Given the description of an element on the screen output the (x, y) to click on. 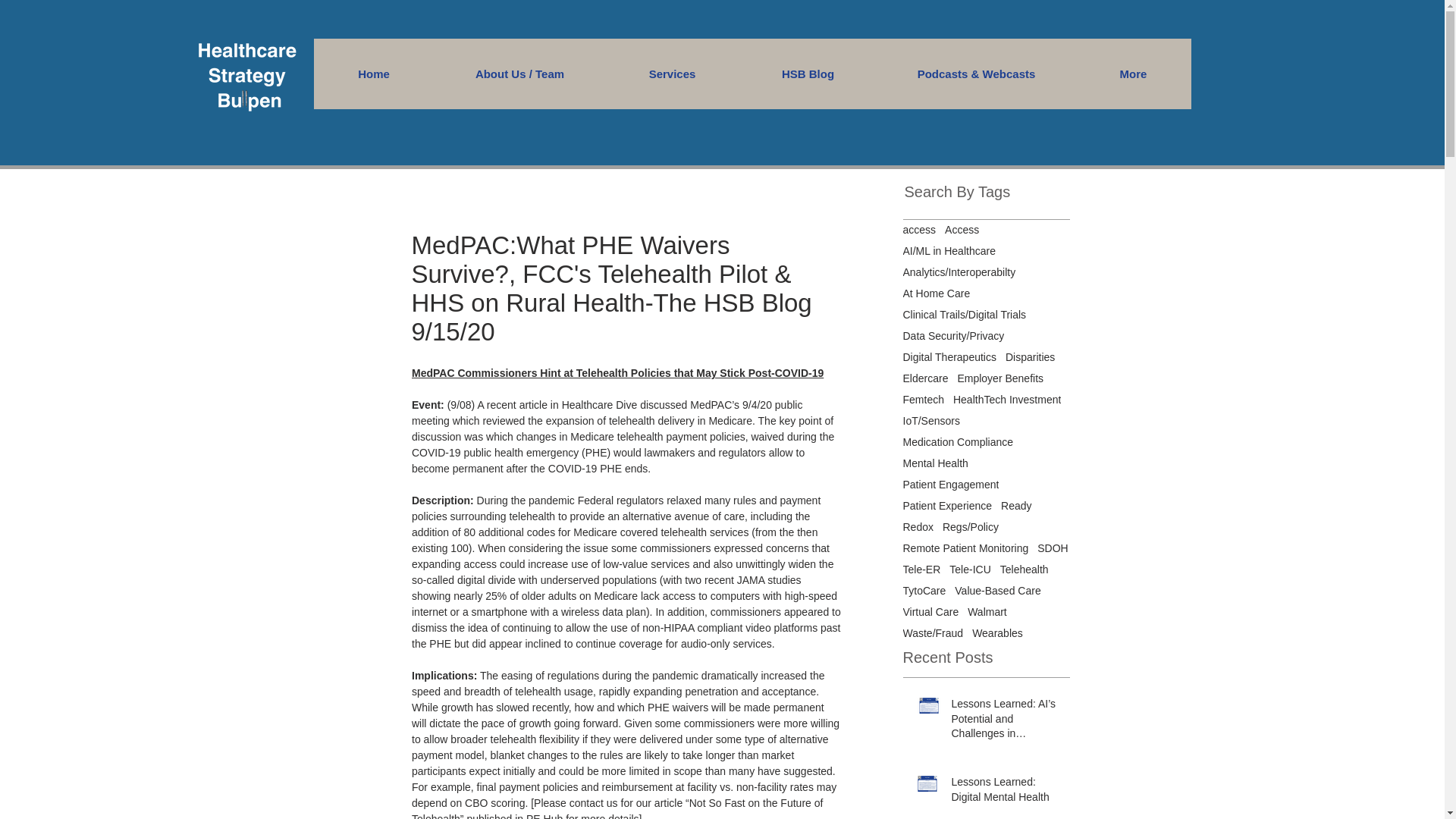
access (919, 229)
Access (961, 229)
Home (373, 73)
At Home Care (935, 293)
Digital Therapeutics (948, 357)
Disparities (1030, 357)
